Given the description of an element on the screen output the (x, y) to click on. 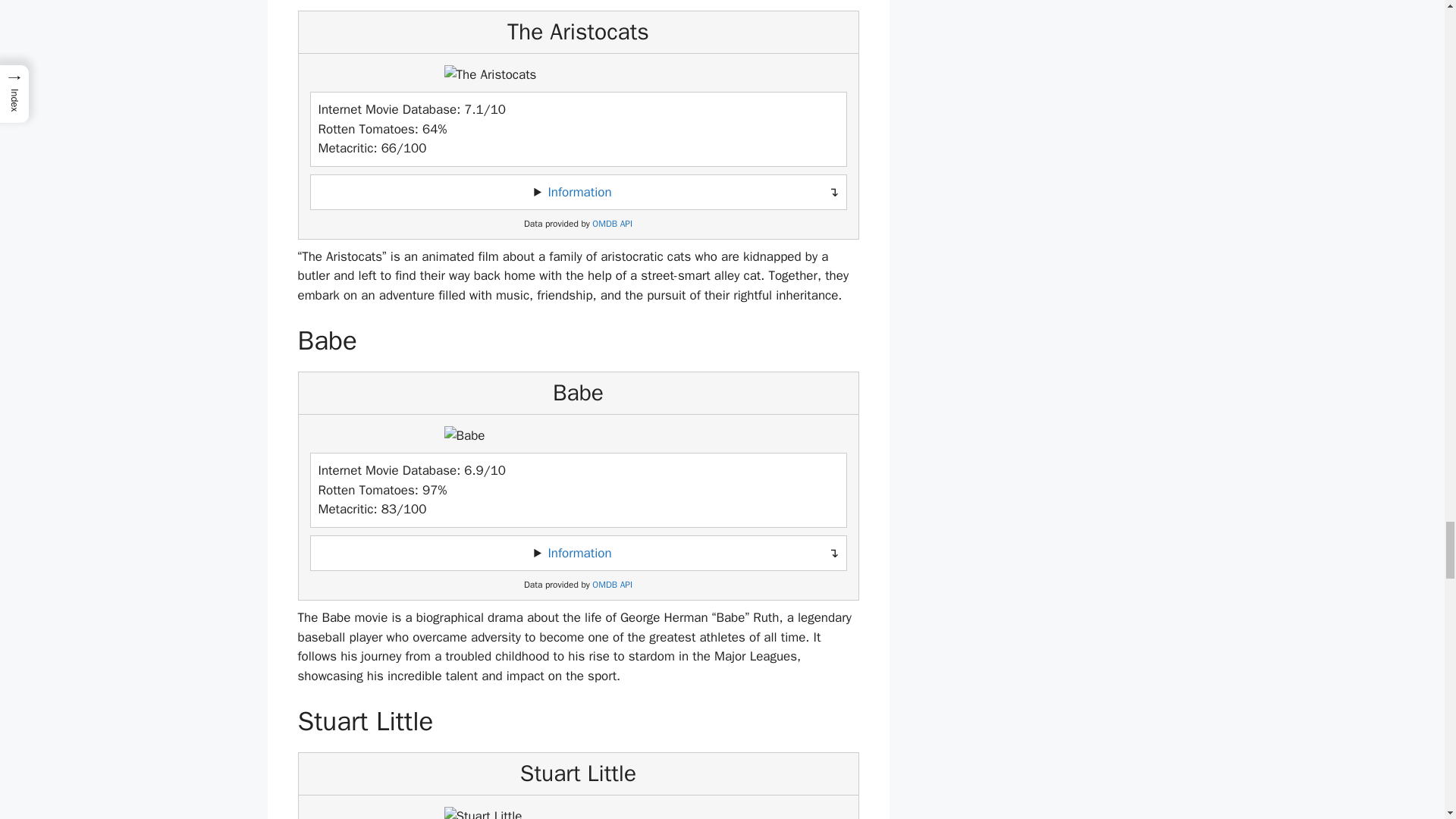
Information (579, 553)
Information (579, 191)
OMDB API (611, 224)
OMDB API (611, 584)
